Given the description of an element on the screen output the (x, y) to click on. 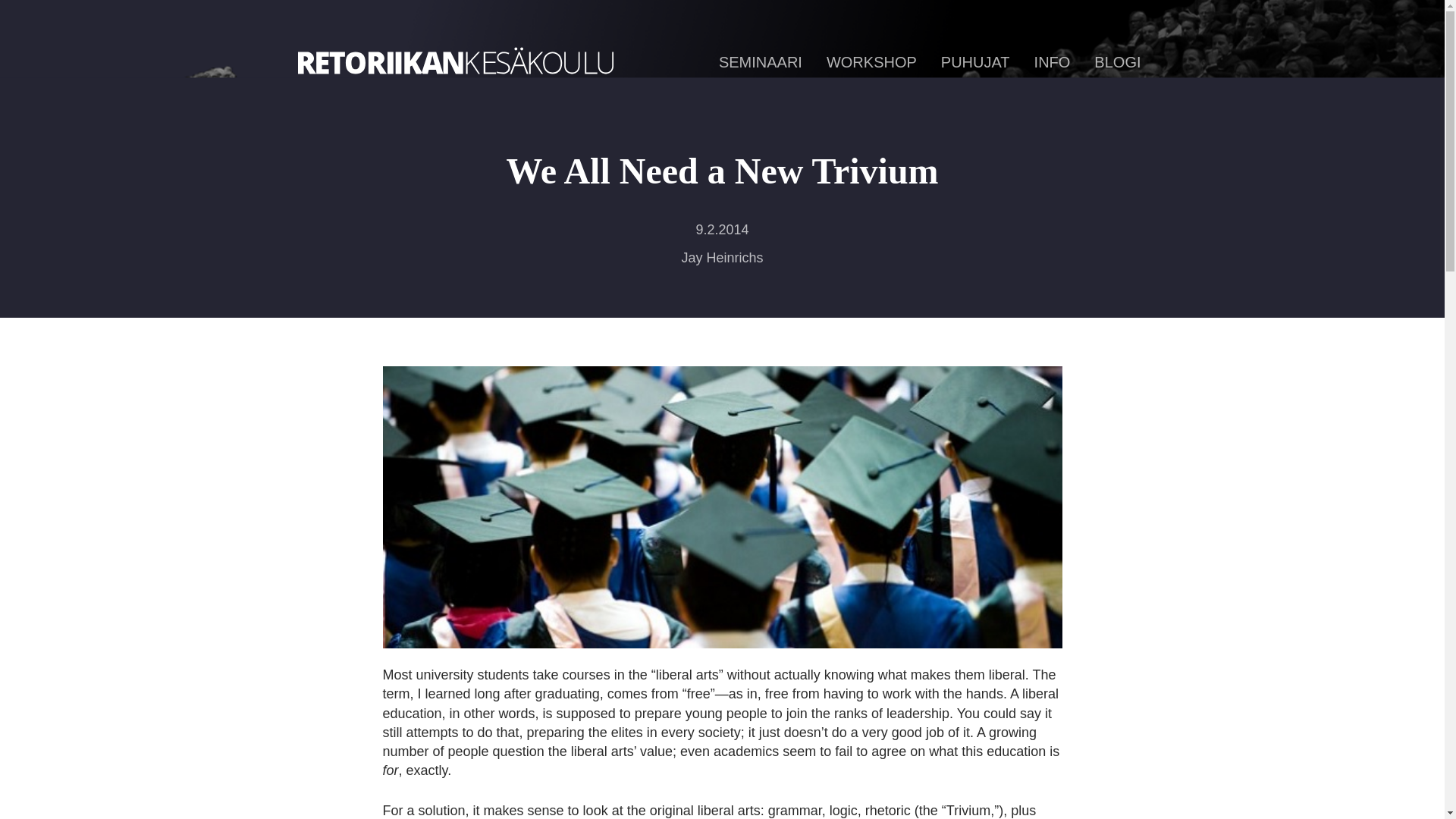
WORKSHOP (872, 62)
PUHUJAT (975, 62)
BLOGI (1117, 62)
SEMINAARI (760, 62)
INFO (1051, 62)
